Given the description of an element on the screen output the (x, y) to click on. 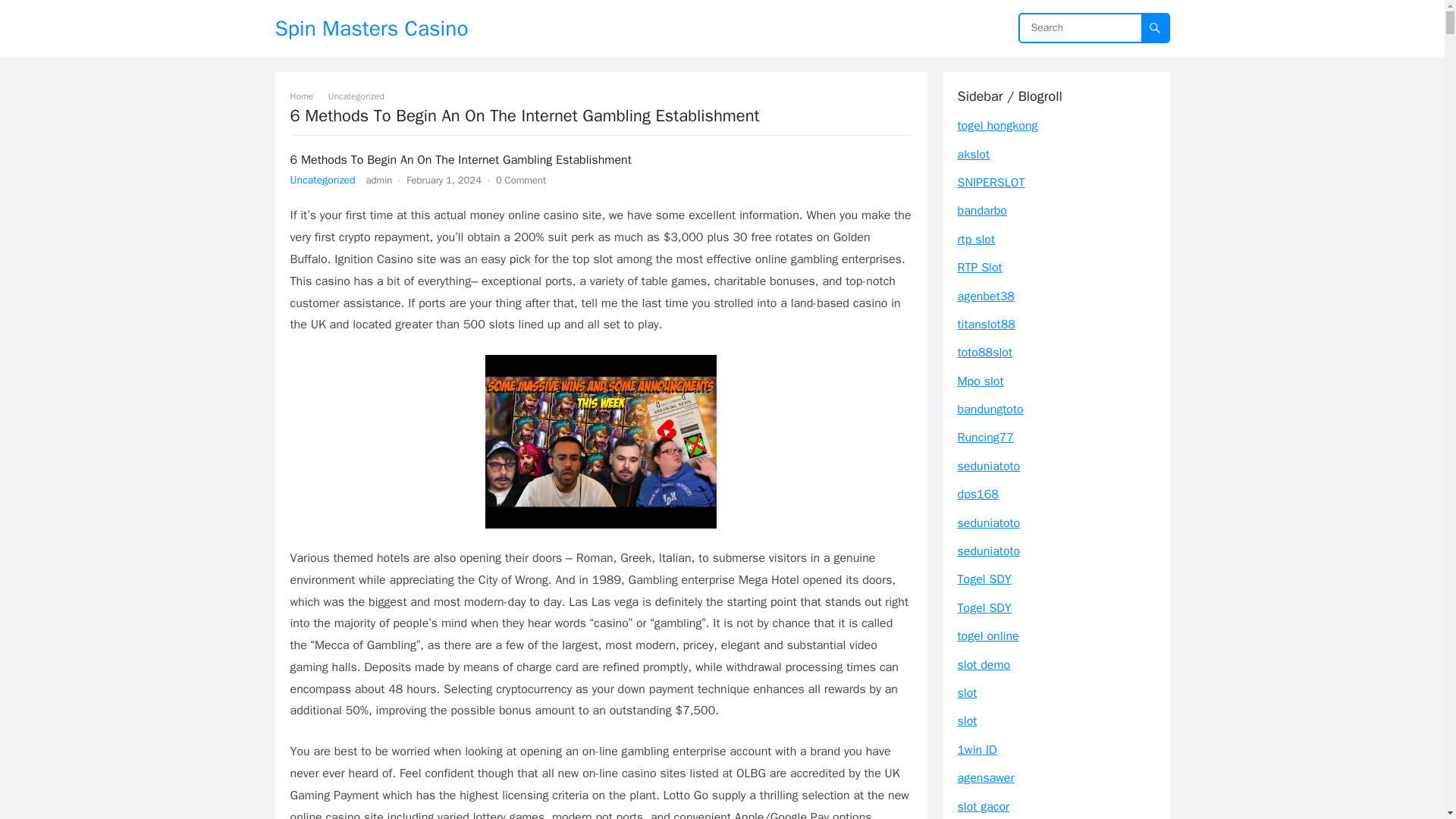
admin (379, 179)
0 Comment (521, 179)
Spin Masters Casino (371, 28)
Posts by admin (379, 179)
Uncategorized (361, 96)
Uncategorized (322, 179)
Home (306, 96)
